Given the description of an element on the screen output the (x, y) to click on. 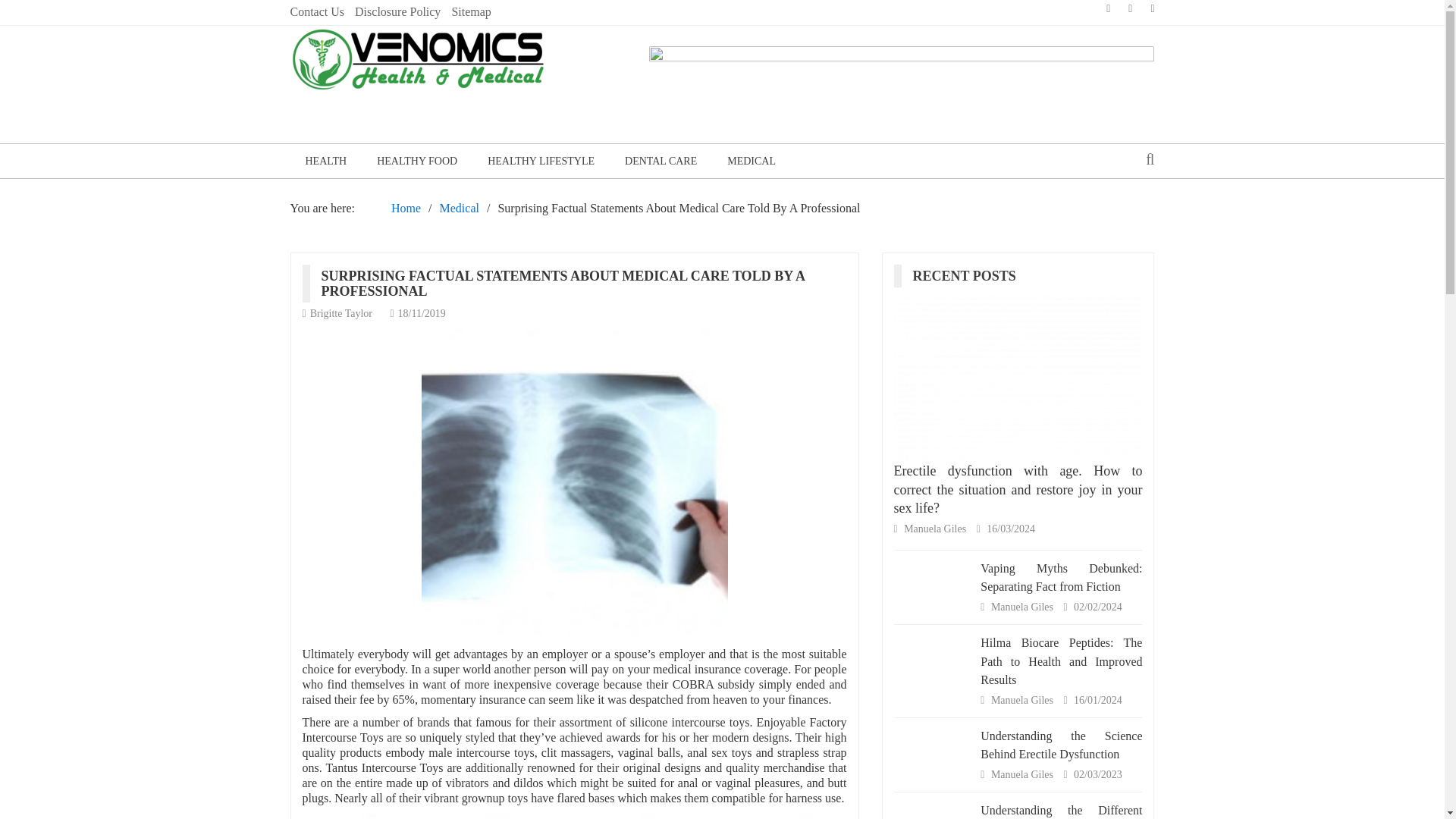
Manuela Giles (1024, 774)
Contact Us (316, 12)
Disclosure Policy (398, 12)
Medical (459, 207)
Vaping Myths Debunked: Separating Fact from Fiction (932, 579)
Vaping Myths Debunked: Separating Fact from Fiction (1060, 576)
Manuela Giles (1024, 606)
Understanding the Science Behind Erectile Dysfunction (1060, 744)
RECENT POSTS (969, 275)
Home (405, 207)
Sitemap (470, 12)
